Given the description of an element on the screen output the (x, y) to click on. 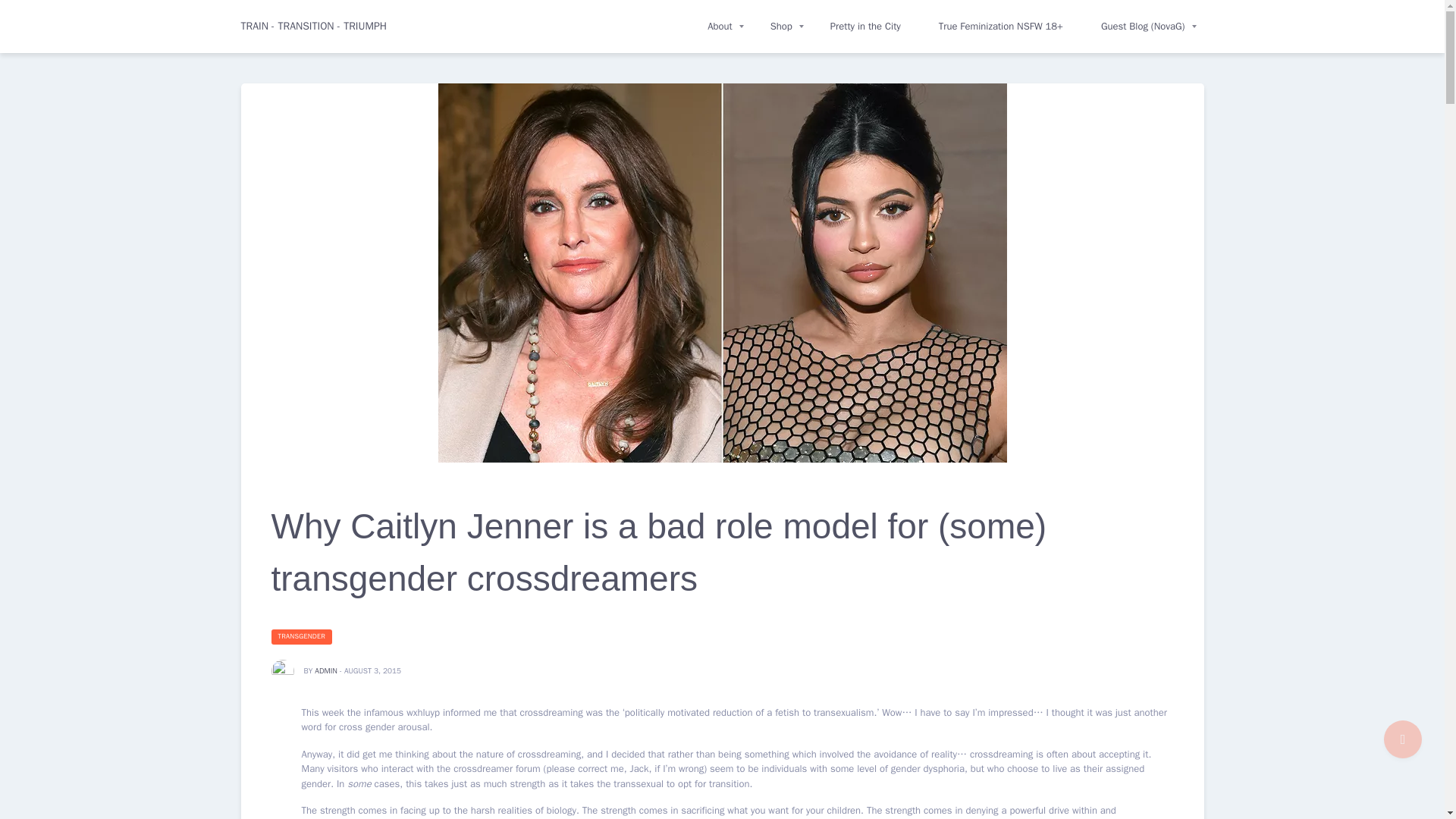
All posts from Transgender (301, 636)
Shop (780, 26)
TRANSGENDER (301, 636)
TRAIN - TRANSITION - TRIUMPH (314, 26)
About (719, 26)
Pretty in the City (865, 26)
ADMIN (325, 670)
